Given the description of an element on the screen output the (x, y) to click on. 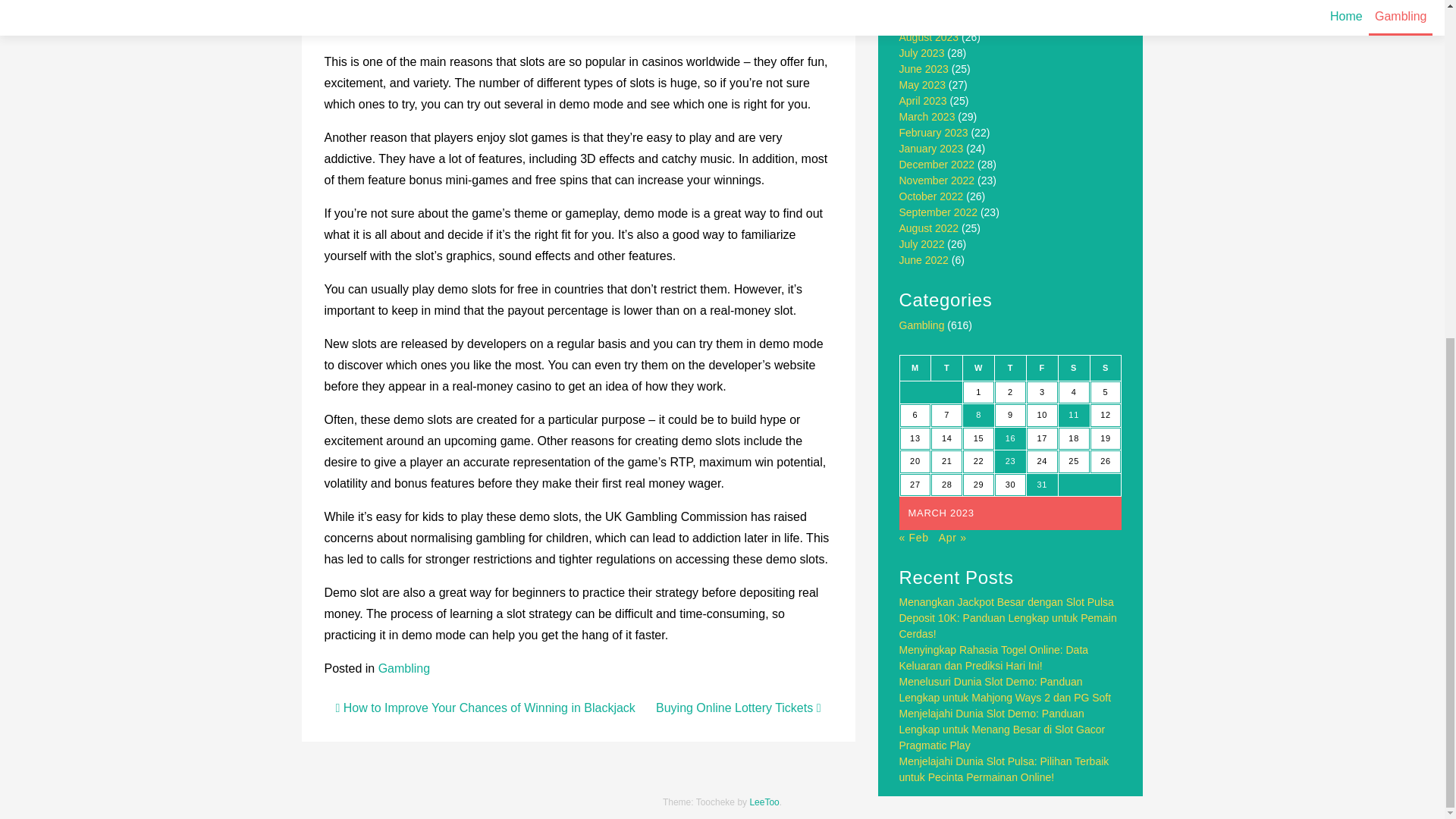
Sunday (1105, 367)
Monday (915, 367)
August 2022 (929, 227)
November 2022 (937, 180)
September 2022 (938, 212)
July 2023 (921, 52)
February 2023 (933, 132)
Friday (1042, 367)
Gambling (403, 667)
 How to Improve Your Chances of Winning in Blackjack (484, 707)
May 2023 (921, 84)
Wednesday (978, 367)
Buying Online Lottery Tickets  (738, 707)
December 2022 (937, 164)
April 2023 (923, 101)
